Given the description of an element on the screen output the (x, y) to click on. 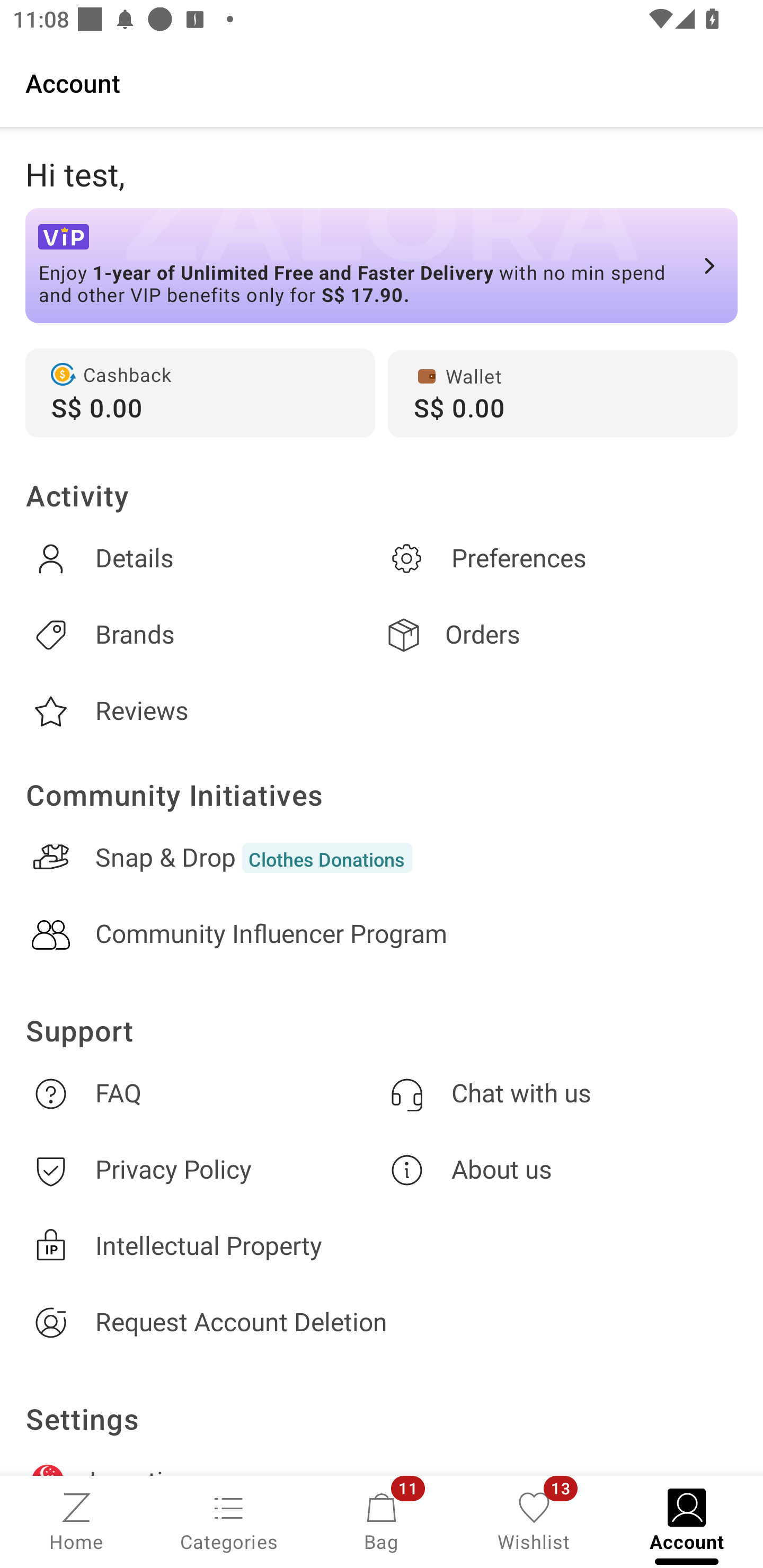
Account (381, 82)
Details (203, 558)
Preferences (559, 558)
Brands (203, 634)
Orders (559, 634)
Reviews (203, 710)
Snap & DropClothes Donations (381, 858)
Community Influencer Program (381, 934)
FAQ (203, 1093)
Chat with us (559, 1093)
Privacy Policy (203, 1170)
About us (559, 1170)
Intellectual Property (381, 1246)
Request Account Deletion (381, 1322)
Home (76, 1519)
Categories (228, 1519)
Bag, 11 new notifications Bag (381, 1519)
Wishlist, 13 new notifications Wishlist (533, 1519)
